Given the description of an element on the screen output the (x, y) to click on. 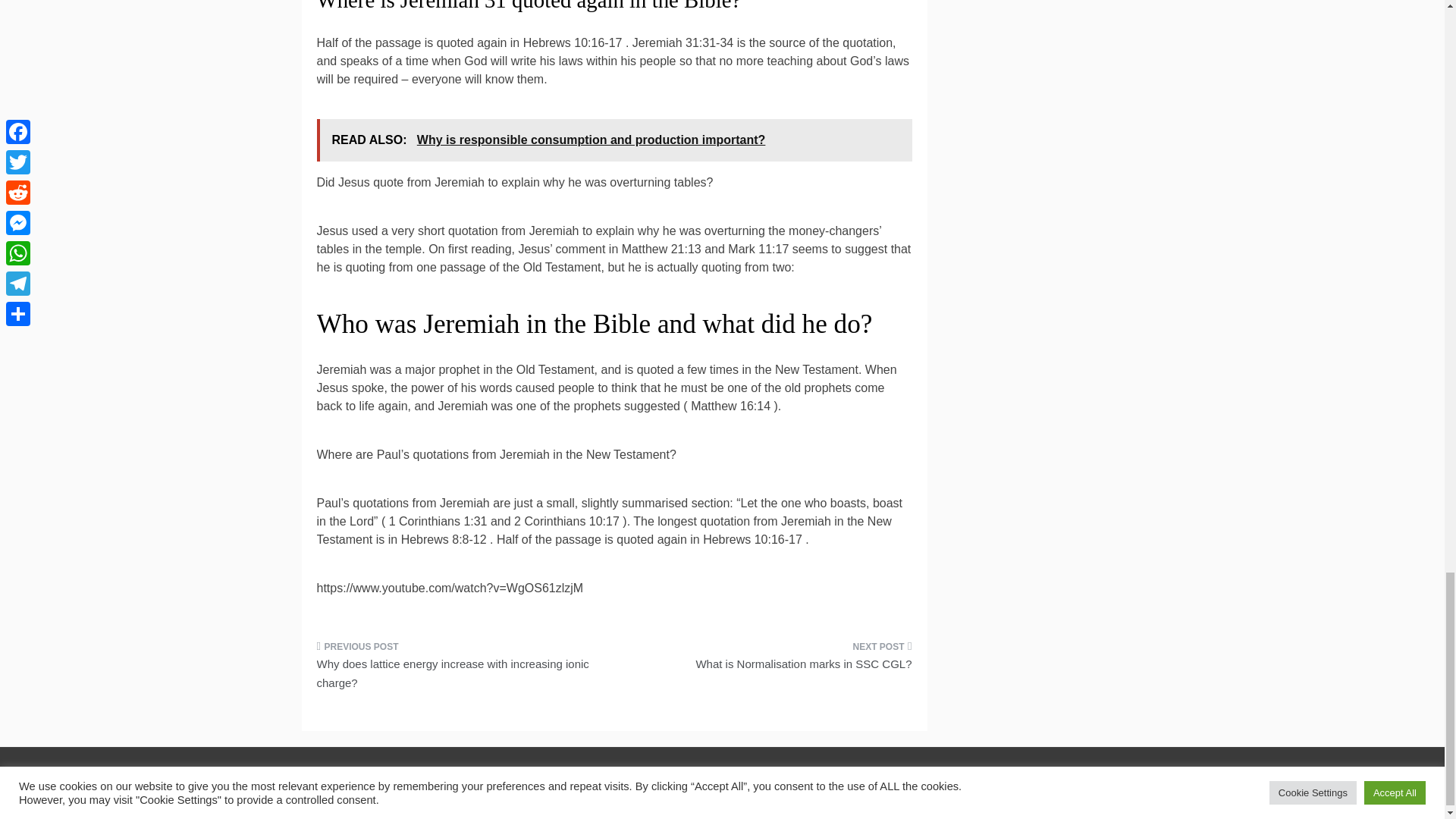
What is Normalisation marks in SSC CGL? (769, 659)
